Given the description of an element on the screen output the (x, y) to click on. 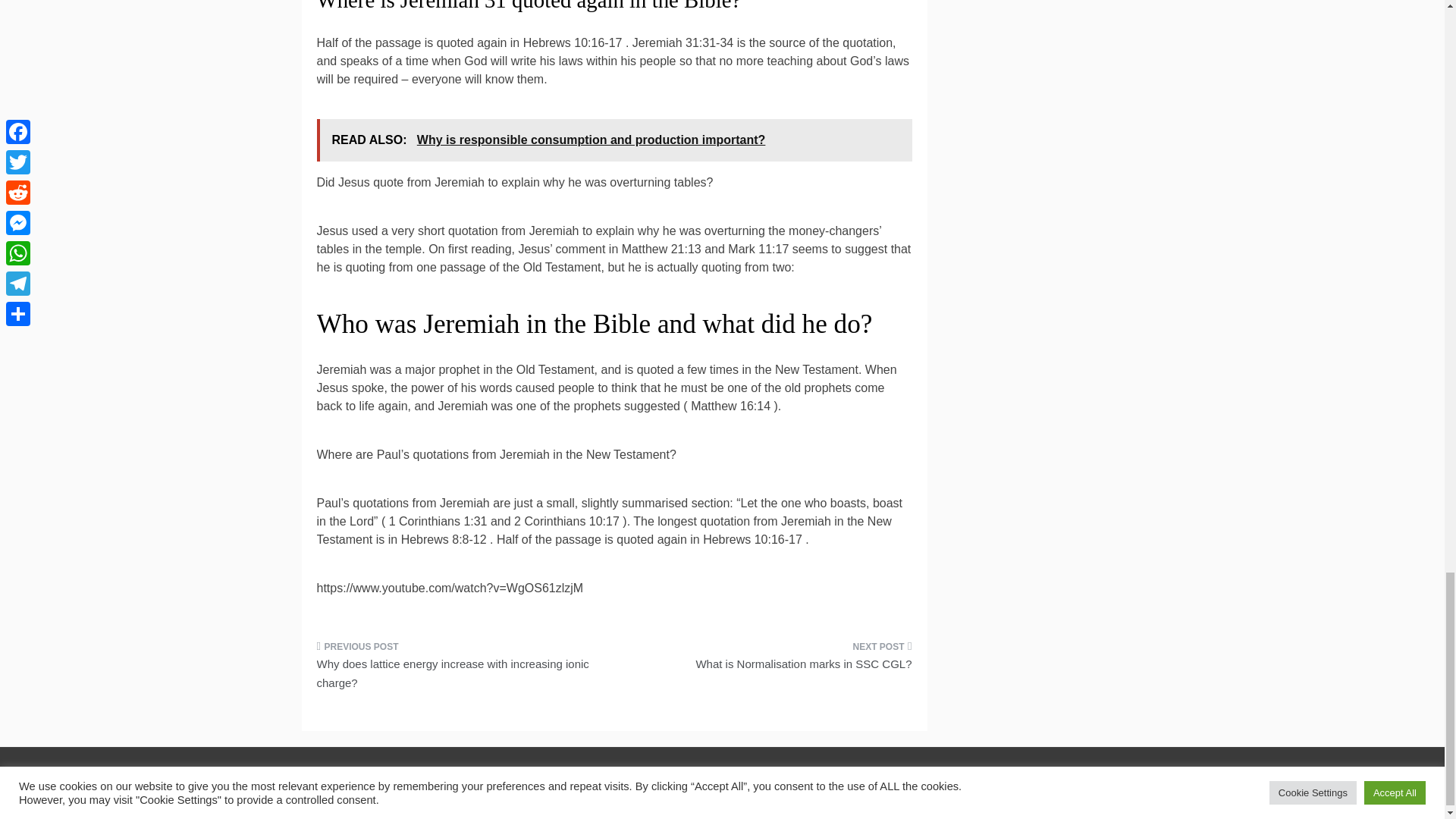
What is Normalisation marks in SSC CGL? (769, 659)
